Given the description of an element on the screen output the (x, y) to click on. 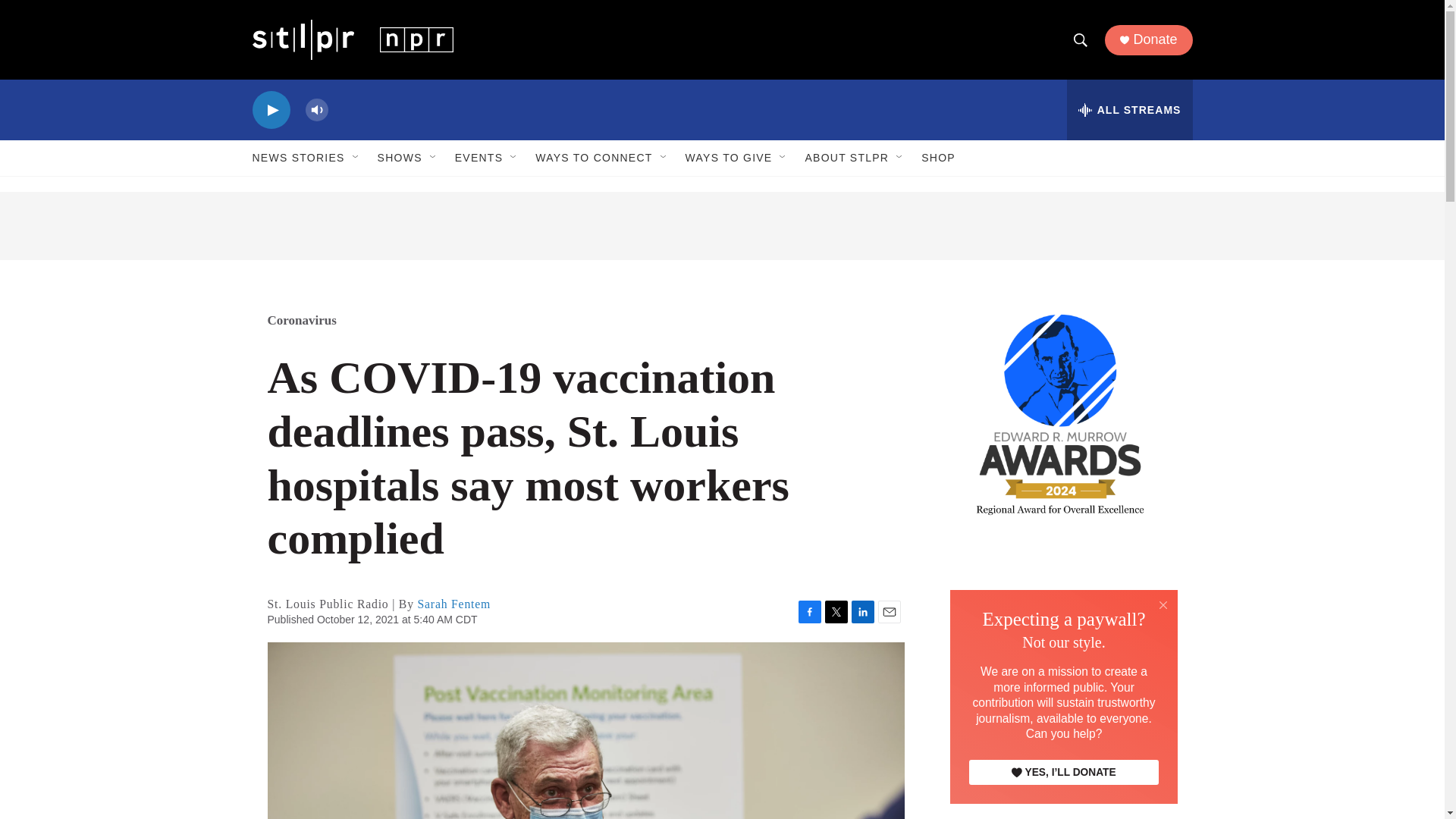
Close (1162, 604)
3rd party ad content (1062, 797)
3rd party ad content (1062, 650)
Close (1162, 605)
3rd party ad content (721, 225)
